Given the description of an element on the screen output the (x, y) to click on. 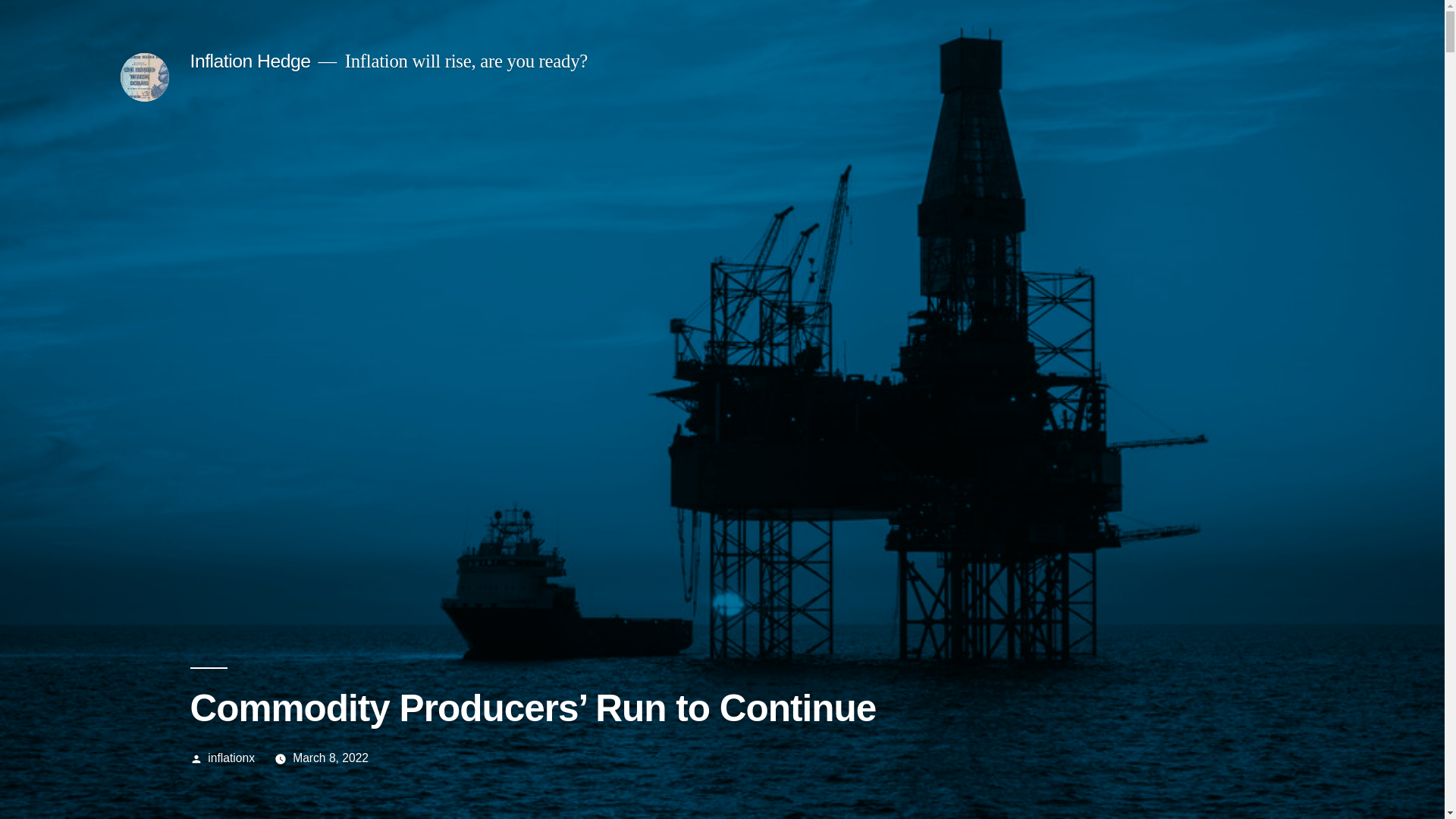
March 8, 2022 Element type: text (330, 757)
Inflation Hedge Element type: text (249, 60)
inflationx Element type: text (230, 757)
